Given the description of an element on the screen output the (x, y) to click on. 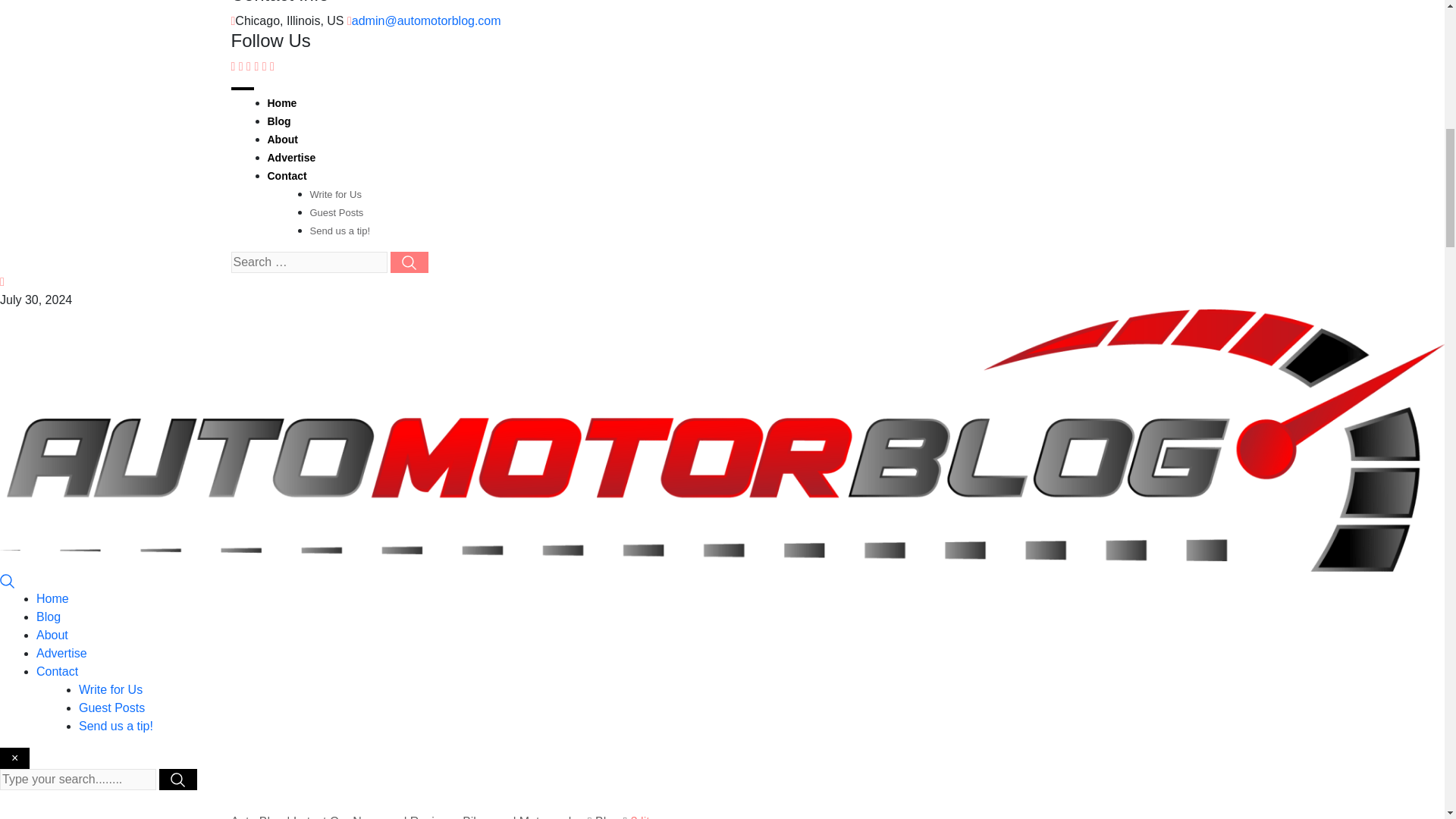
Send us a tip! (338, 230)
Write for Us (110, 689)
Blog (48, 616)
Contact (57, 671)
Guest Posts (335, 212)
Search (7, 580)
Write for Us (334, 194)
About (281, 139)
Contact (285, 175)
Guest Posts (111, 707)
About (52, 634)
Home (52, 598)
Go to Blog. (607, 816)
Advertise (61, 653)
Home (281, 102)
